Given the description of an element on the screen output the (x, y) to click on. 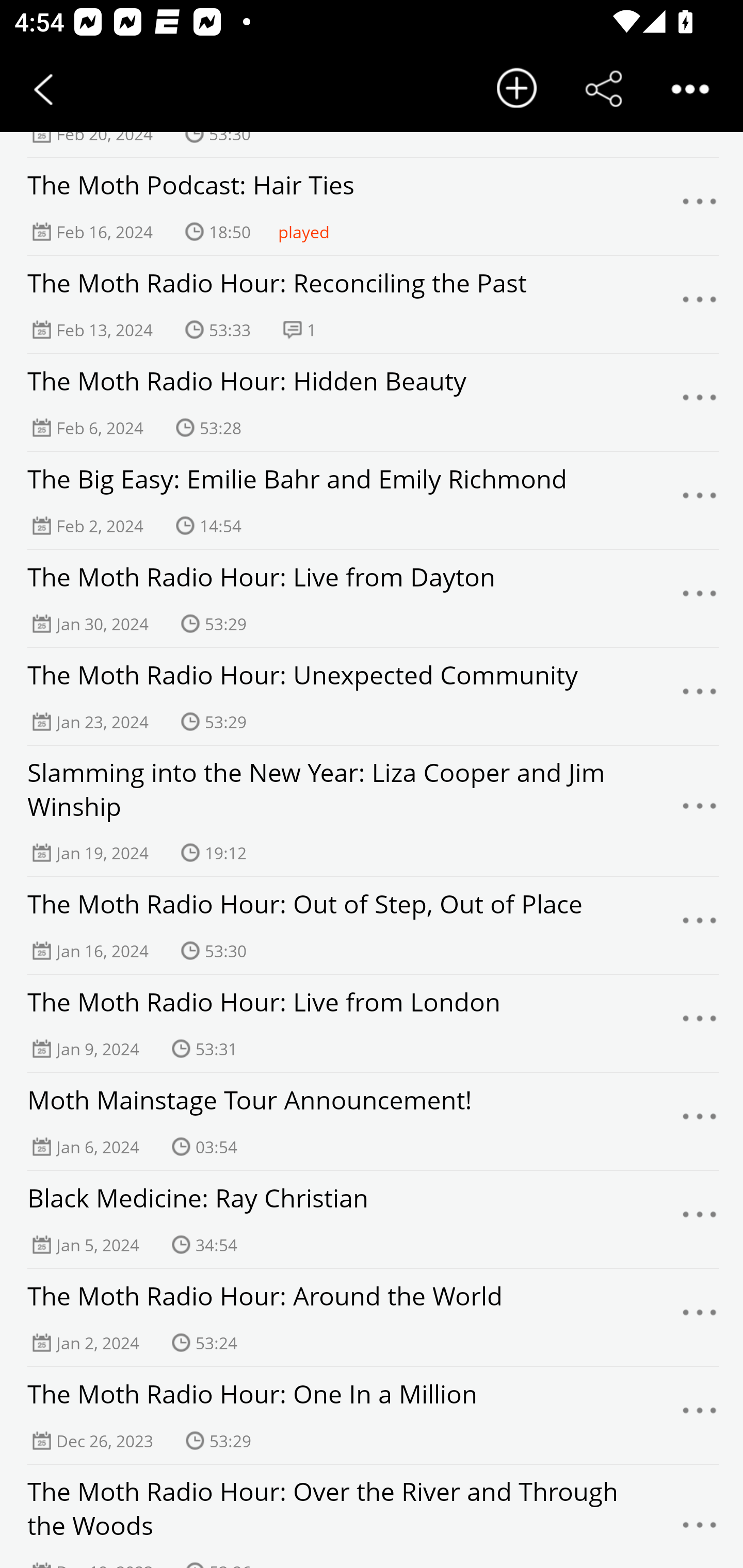
Back (43, 88)
Menu (699, 206)
Menu (699, 304)
Menu (699, 402)
Menu (699, 500)
Menu (699, 598)
Menu (699, 696)
Menu (699, 811)
Menu (699, 925)
Menu (699, 1023)
Menu (699, 1121)
Menu (699, 1219)
Menu (699, 1317)
Menu (699, 1415)
Menu (699, 1527)
